Given the description of an element on the screen output the (x, y) to click on. 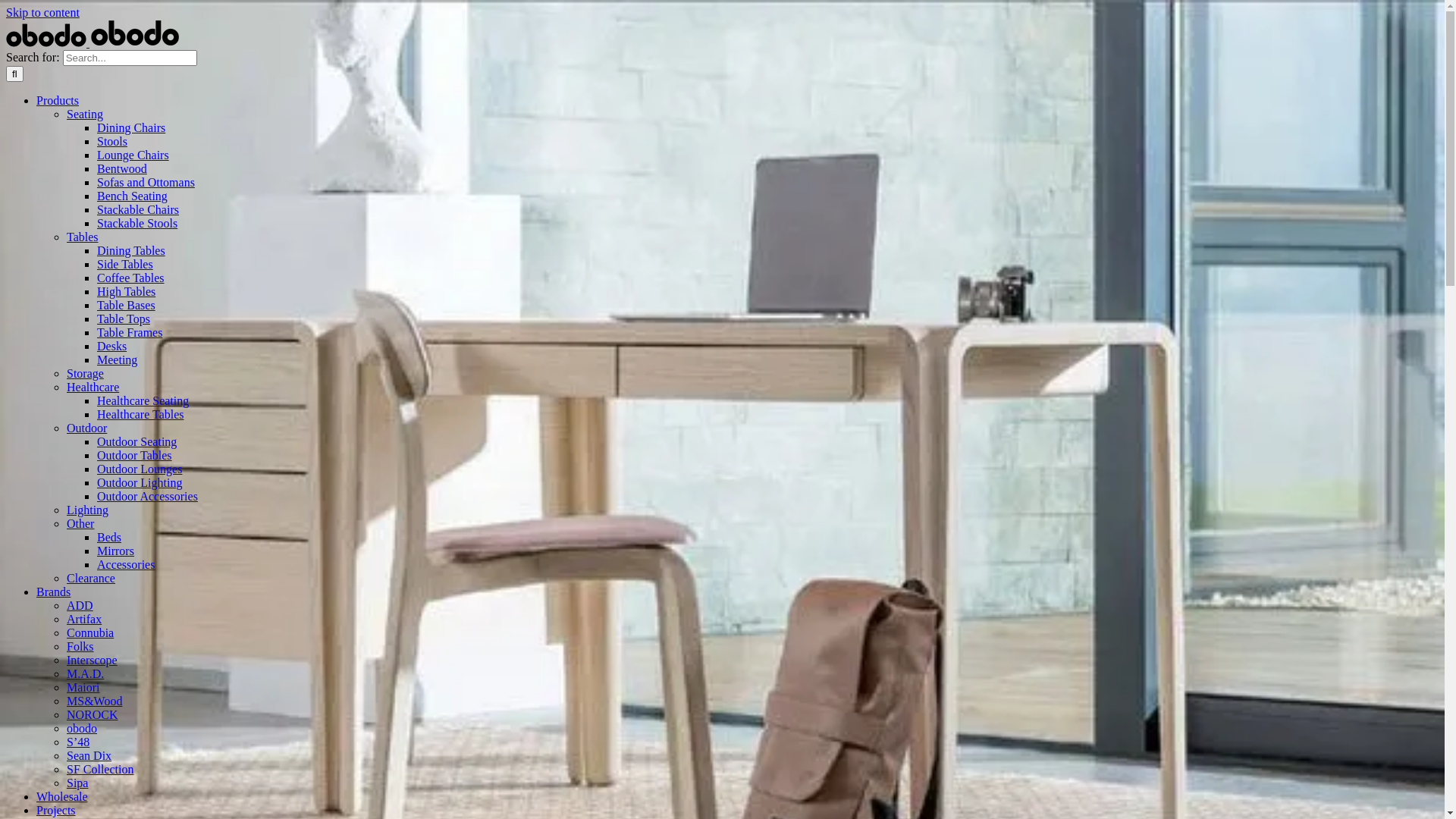
Tables Element type: text (82, 236)
Desks Element type: text (111, 345)
MS&Wood Element type: text (94, 700)
Stackable Chairs Element type: text (137, 209)
Dining Tables Element type: text (131, 250)
Outdoor Tables Element type: text (134, 454)
Outdoor Element type: text (86, 427)
SF Collection Element type: text (99, 768)
Sean Dix Element type: text (88, 755)
Coffee Tables Element type: text (130, 277)
Projects Element type: text (55, 809)
ADD Element type: text (79, 605)
Accessories Element type: text (125, 564)
Storage Element type: text (84, 373)
Beds Element type: text (109, 536)
Meeting Element type: text (117, 359)
obodo Element type: text (81, 727)
Lighting Element type: text (87, 509)
Seating Element type: text (84, 113)
Side Tables Element type: text (125, 263)
Maiori Element type: text (83, 686)
Wholesale Element type: text (61, 796)
Table Tops Element type: text (123, 318)
Bench Seating Element type: text (132, 195)
Lounge Chairs Element type: text (133, 154)
Brands Element type: text (53, 591)
Healthcare Seating Element type: text (142, 400)
Sipa Element type: text (76, 782)
NOROCK Element type: text (92, 714)
Artifax Element type: text (83, 618)
Clearance Element type: text (90, 577)
Outdoor Seating Element type: text (136, 441)
Outdoor Lighting Element type: text (139, 482)
High Tables Element type: text (126, 291)
Mirrors Element type: text (115, 550)
Bentwood Element type: text (122, 168)
Outdoor Lounges Element type: text (139, 468)
Folks Element type: text (80, 646)
Other Element type: text (80, 523)
Interscope Element type: text (91, 659)
Skip to content Element type: text (42, 12)
Table Bases Element type: text (126, 304)
Stools Element type: text (112, 140)
Products Element type: text (57, 100)
Healthcare Tables Element type: text (140, 413)
Stackable Stools Element type: text (137, 222)
Outdoor Accessories Element type: text (147, 495)
Dining Chairs Element type: text (131, 127)
Connubia Element type: text (89, 632)
Sofas and Ottomans Element type: text (145, 181)
Healthcare Element type: text (92, 386)
M.A.D. Element type: text (84, 673)
Table Frames Element type: text (129, 332)
